Given the description of an element on the screen output the (x, y) to click on. 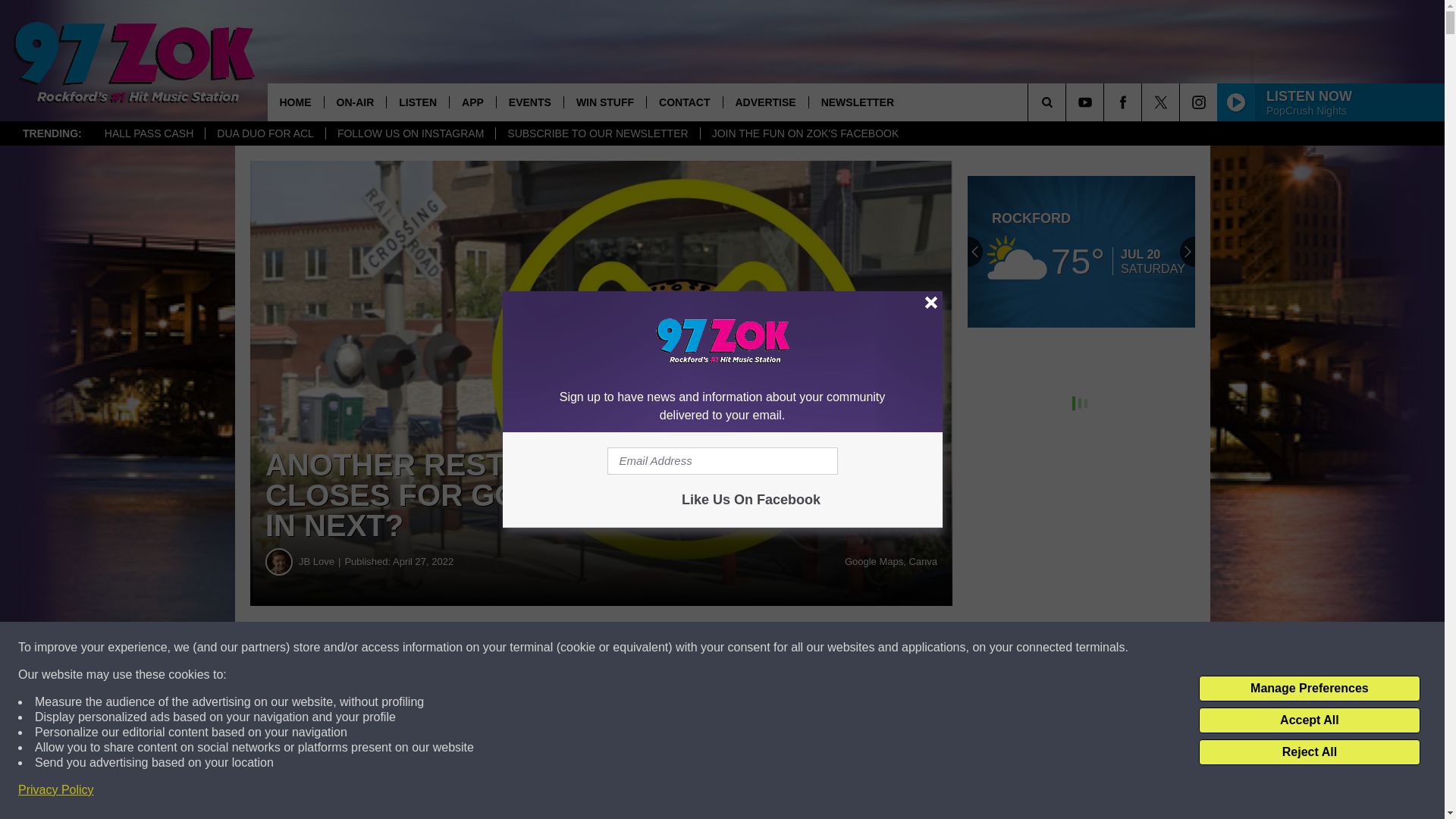
CONTACT (684, 102)
Share on Twitter (741, 647)
EVENTS (529, 102)
Accept All (1309, 720)
FOLLOW US ON INSTAGRAM (409, 133)
Share on Facebook (460, 647)
Privacy Policy (55, 789)
SEARCH (1068, 102)
Email Address (722, 461)
Reject All (1309, 751)
Rockford Weather (1081, 251)
TRENDING: (52, 133)
HOME (294, 102)
HALL PASS CASH (149, 133)
JOIN THE FUN ON ZOK'S FACEBOOK (805, 133)
